Given the description of an element on the screen output the (x, y) to click on. 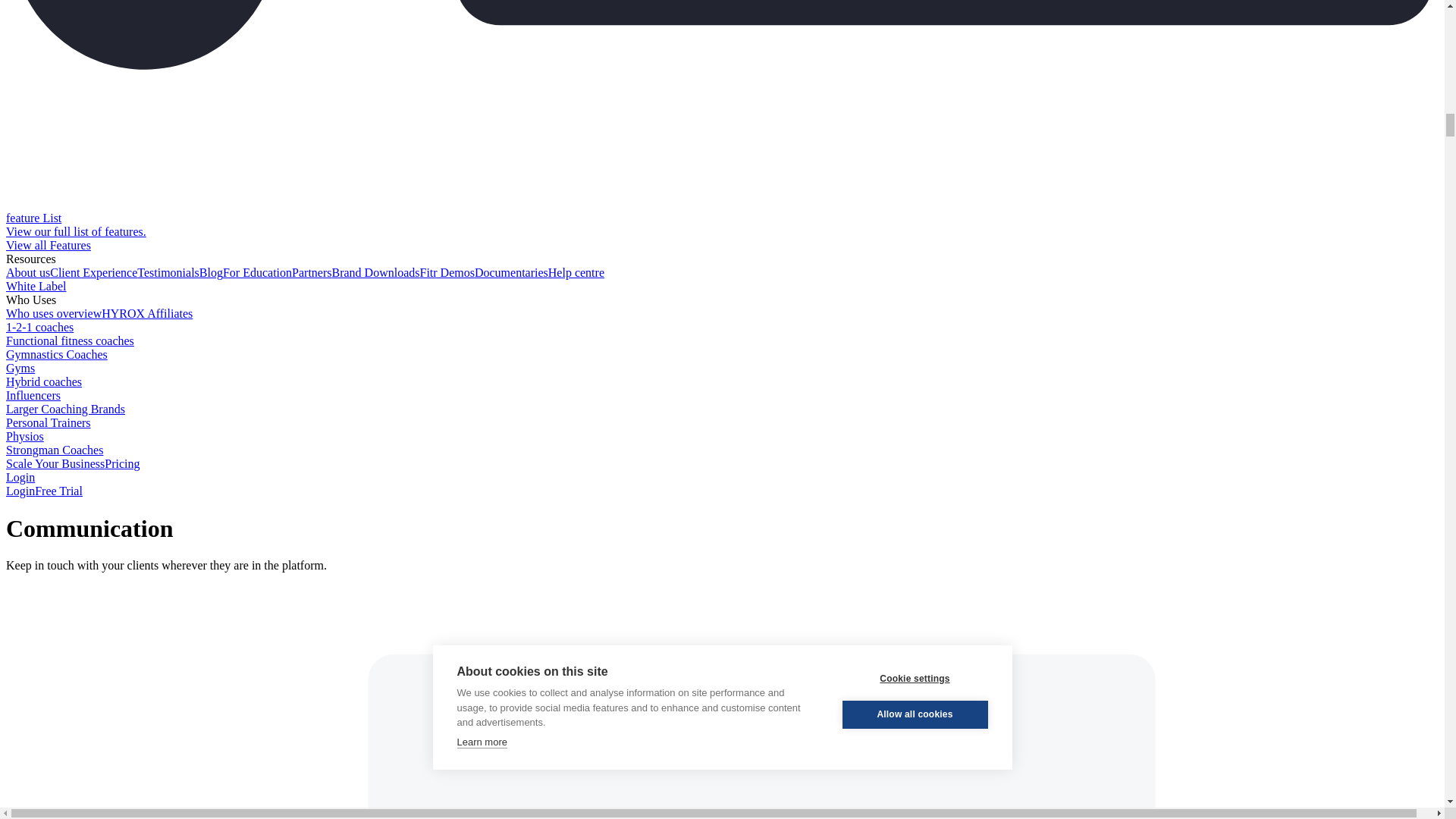
Larger Coaching Brands (65, 408)
Blog (210, 272)
Physios (24, 436)
Personal Trainers (47, 422)
For Education (257, 272)
Partners (311, 272)
Strongman Coaches (54, 449)
Client Experience (92, 272)
About us (27, 272)
Hybrid coaches (43, 381)
Brand Downloads (375, 272)
Gymnastics Coaches (56, 354)
About us (27, 272)
1-2-1 coaches (39, 327)
